Given the description of an element on the screen output the (x, y) to click on. 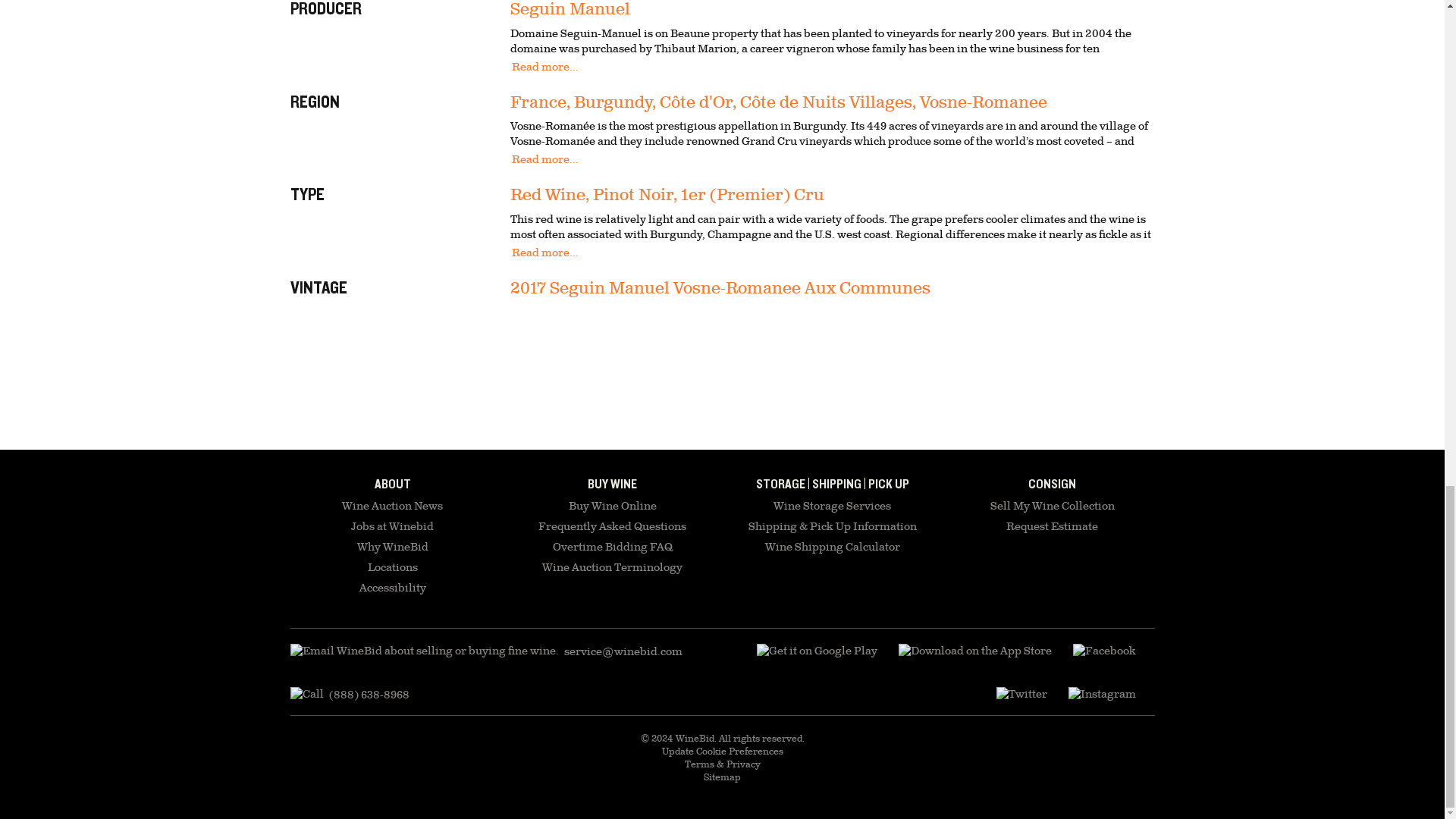
Call WineBid about selling or buying fine wine. (349, 694)
Download on the App Store (817, 651)
Instagram (1101, 694)
Facebook (1103, 651)
Email (485, 651)
Twitter (1020, 694)
Download on the App Store (974, 651)
